Given the description of an element on the screen output the (x, y) to click on. 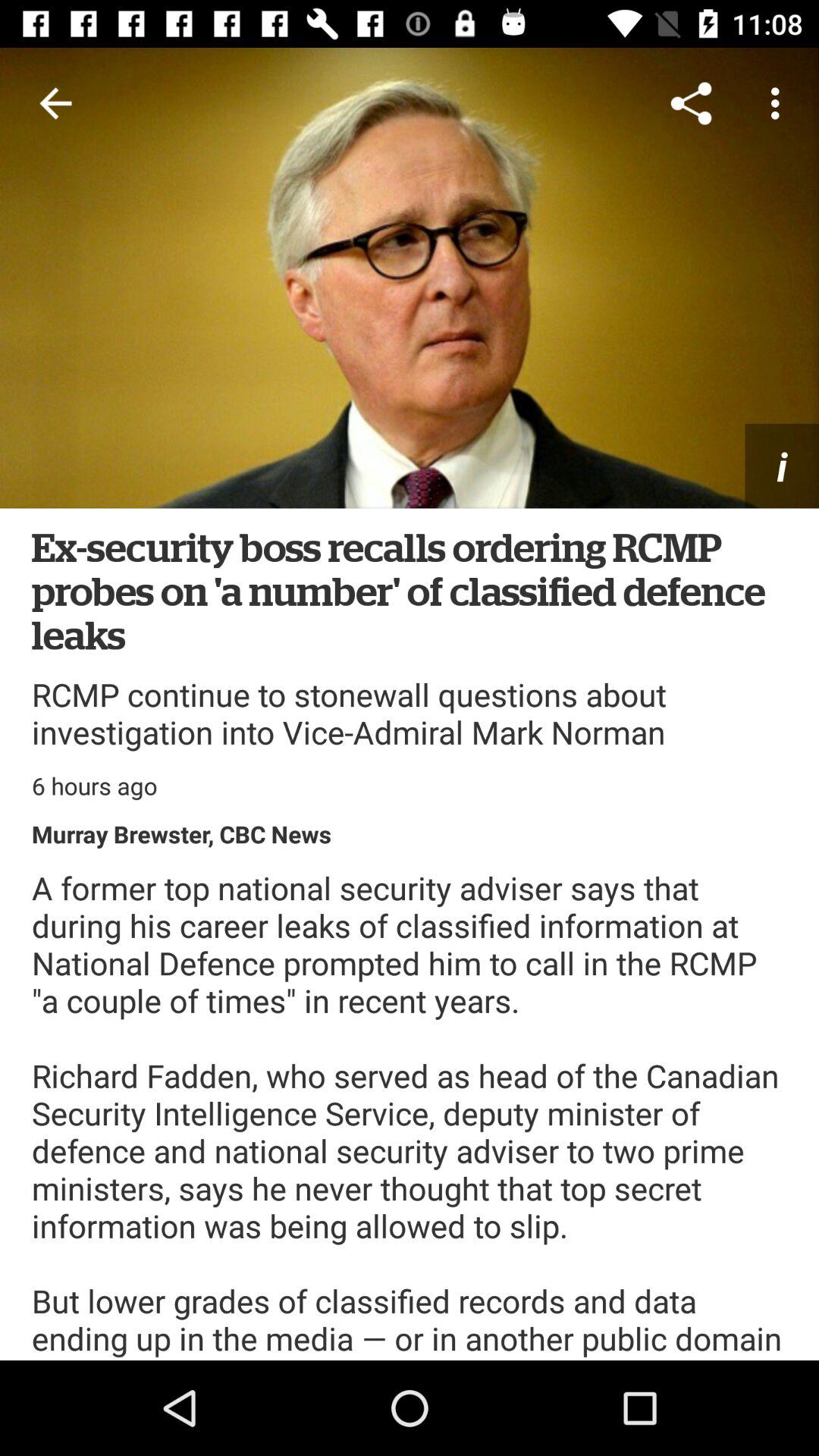
press the item above the i icon (691, 103)
